Given the description of an element on the screen output the (x, y) to click on. 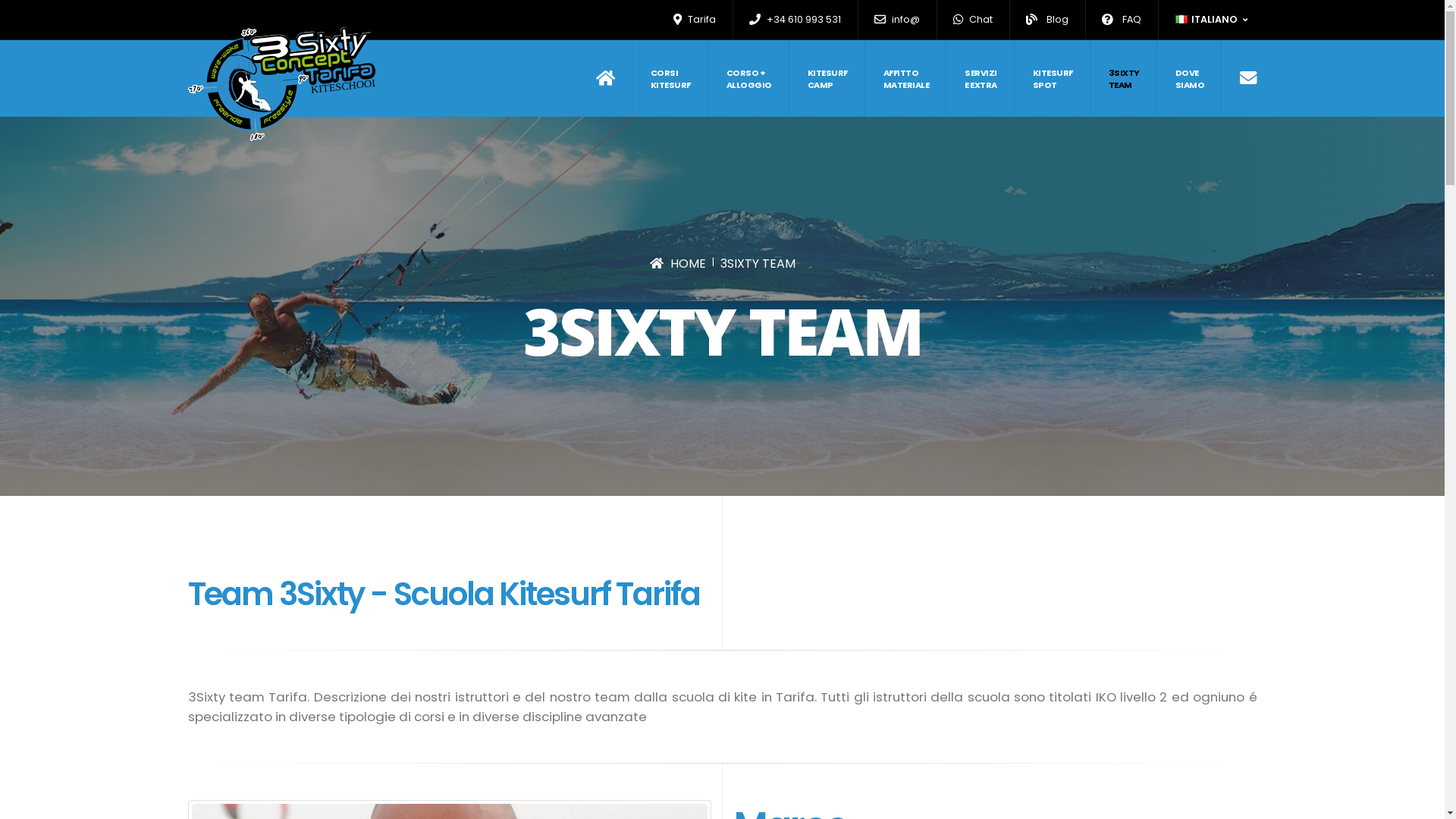
AFFITTO MATERIALE Element type: text (906, 78)
FAQ Element type: text (1121, 19)
DOVE SIAMO Element type: text (1190, 78)
ITALIANO Element type: text (1212, 19)
info@ Element type: text (897, 19)
CORSO + ALLOGGIO Element type: text (749, 78)
3SIXTY TEAM Element type: text (757, 263)
Chat Element type: text (973, 19)
Tarifa Element type: text (693, 19)
Home - 3Sixty Scuola Kitesurf Tarifa Element type: hover (281, 83)
SERVIZI E EXTRA Element type: text (980, 78)
Blog Element type: text (1047, 19)
CORSI KITESURF Element type: text (670, 78)
HOME Element type: text (677, 263)
KITESURF CAMP Element type: text (827, 78)
Home Element type: hover (614, 78)
+34 610 993 531 Element type: text (794, 19)
3SIXTY TEAM Element type: text (1124, 78)
KITESURF SPOT Element type: text (1053, 78)
